Given the description of an element on the screen output the (x, y) to click on. 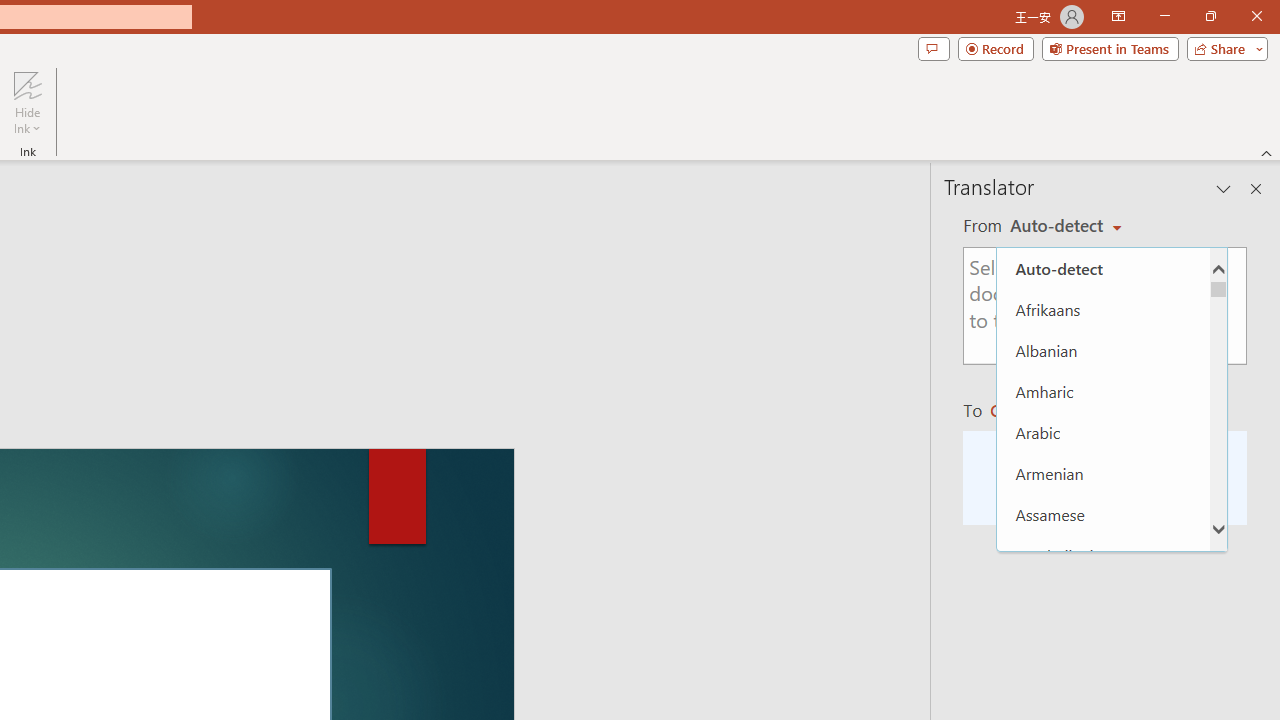
Basque (1103, 678)
Bashkir (1103, 637)
Armenian (1103, 472)
Auto-detect (1066, 225)
Azerbaijani (1103, 555)
Auto-detect (1103, 267)
Bangla (1103, 596)
